Given the description of an element on the screen output the (x, y) to click on. 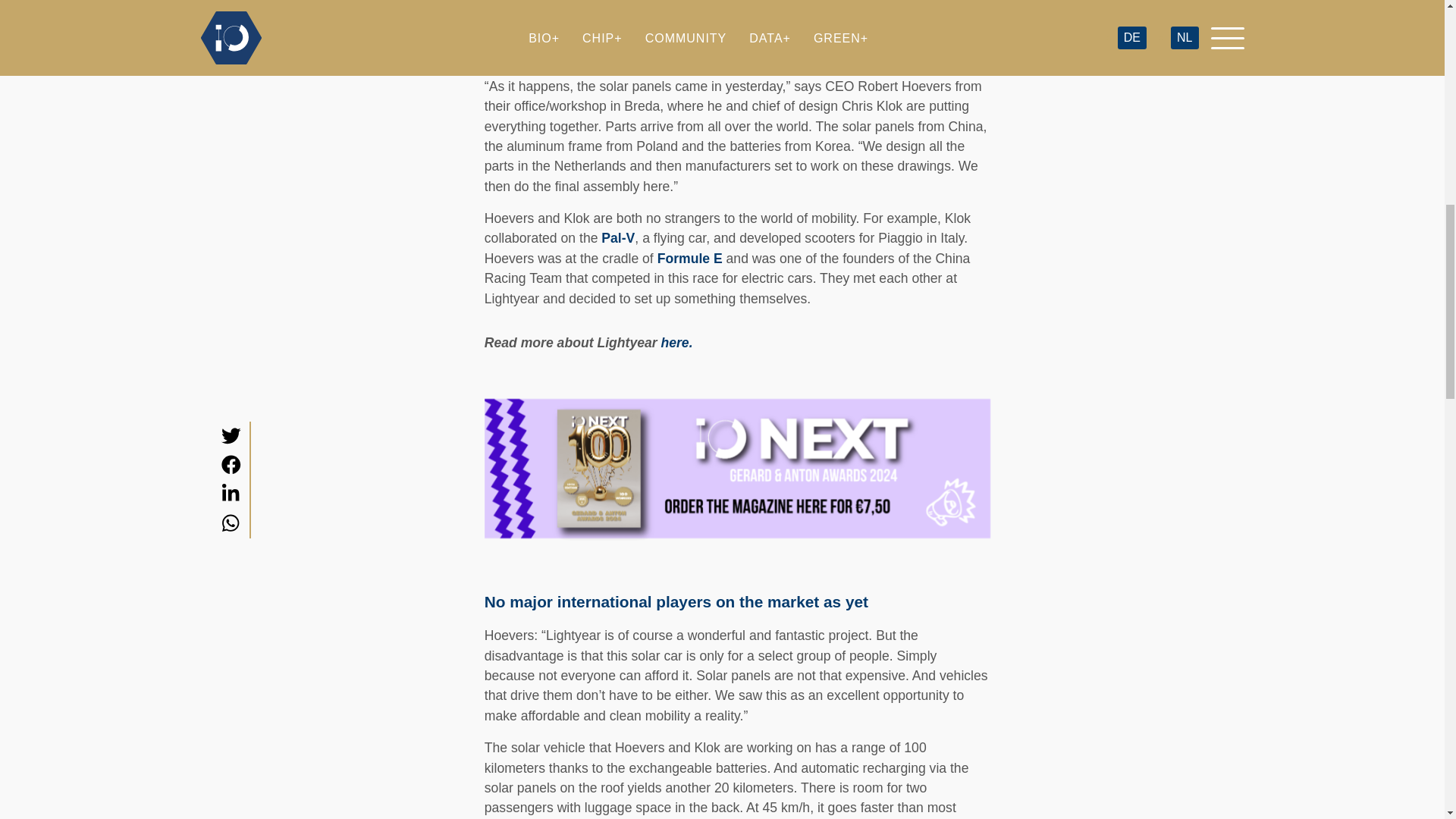
Pal-V (617, 238)
Squad Mobility (872, 2)
